Given the description of an element on the screen output the (x, y) to click on. 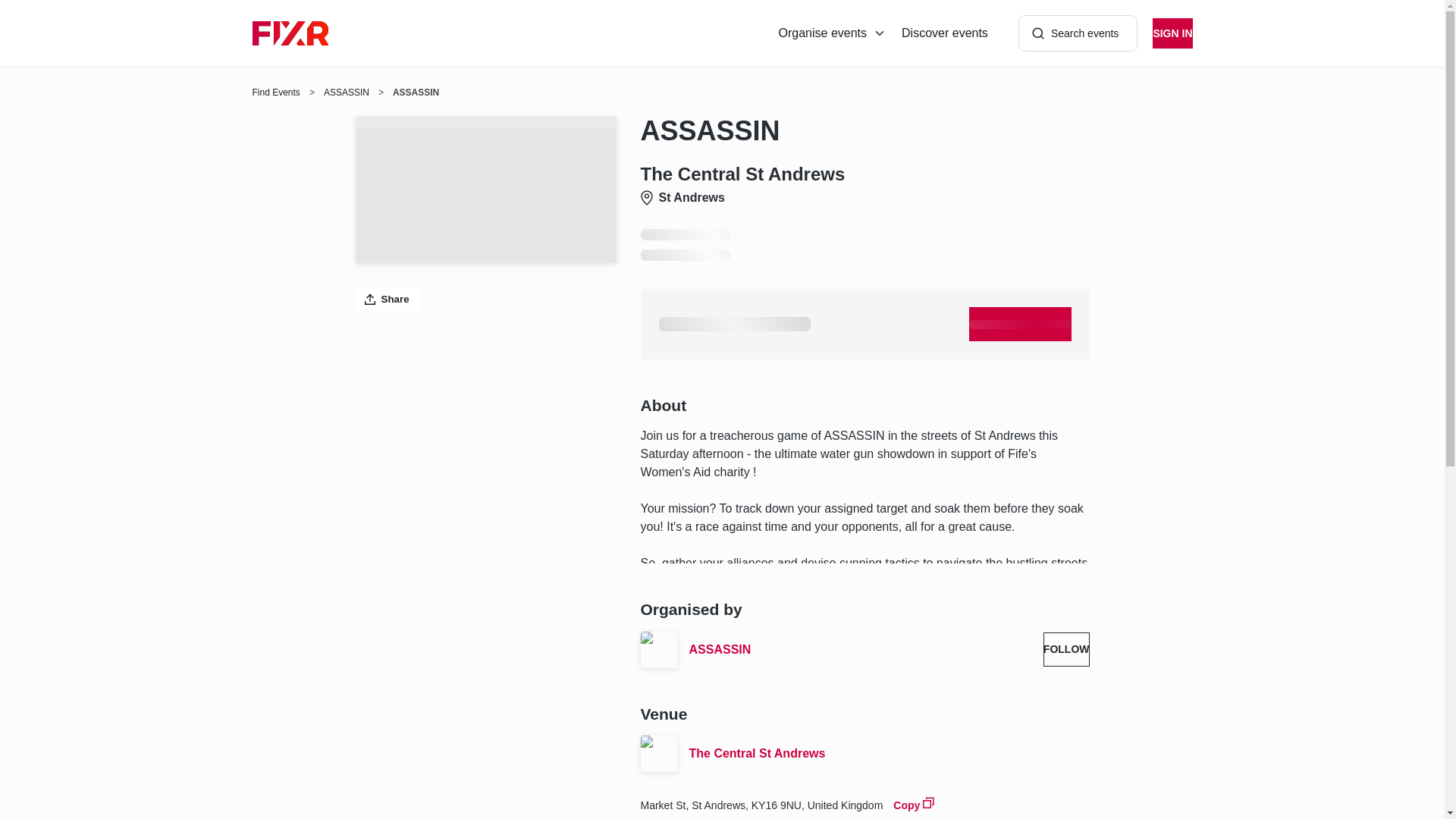
Discover events (944, 33)
ASSASSIN (859, 649)
Organise events (832, 33)
PLACEHOLDER TEXT (1020, 324)
ASSASSIN (346, 92)
FOLLOW (1066, 649)
Search events (1077, 33)
SIGN IN (1172, 33)
Find Events (275, 92)
The Central St Andrews (888, 753)
